Given the description of an element on the screen output the (x, y) to click on. 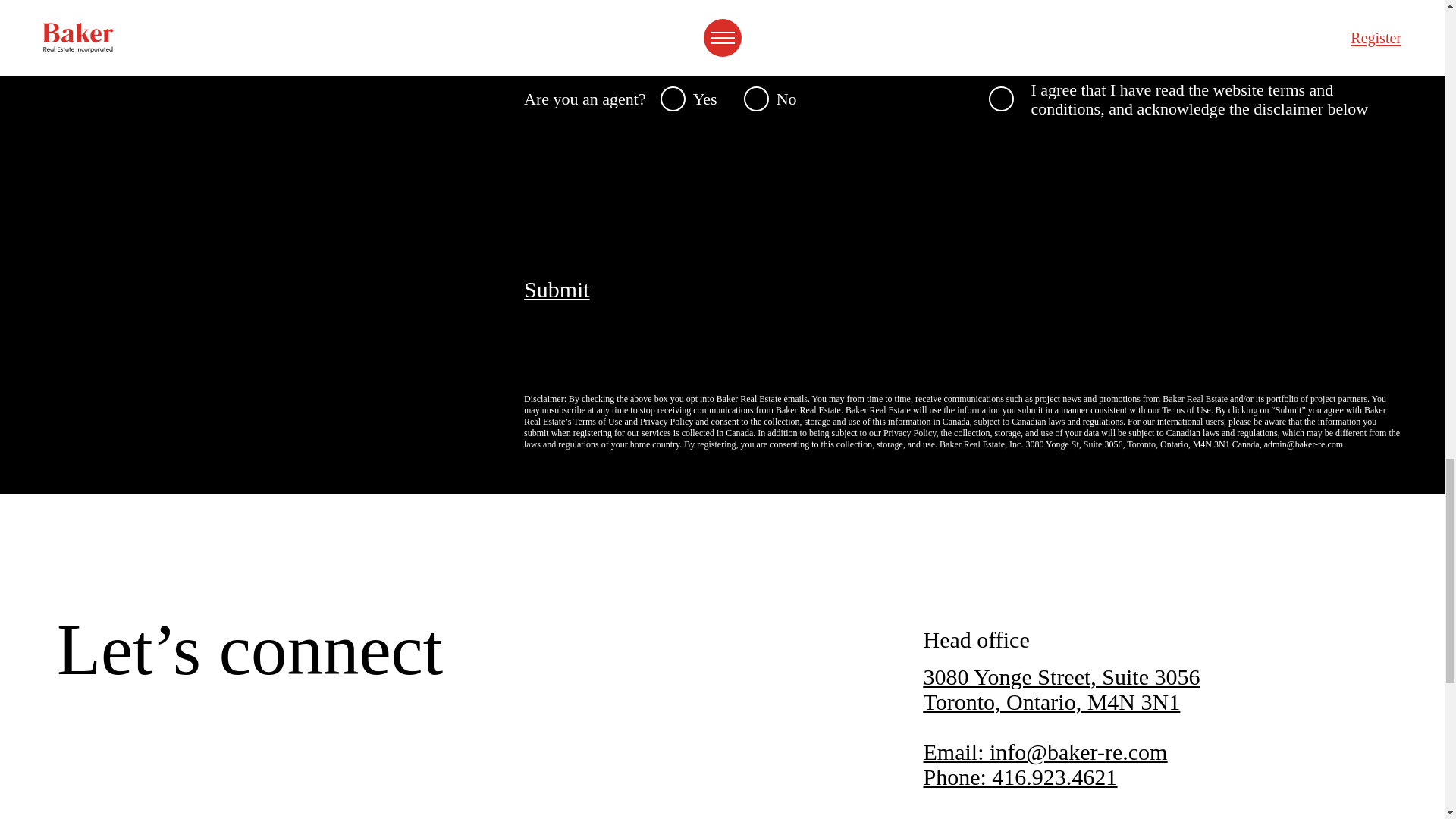
416.923.4621 (1053, 776)
Submit (556, 289)
Submit (1061, 689)
